Given the description of an element on the screen output the (x, y) to click on. 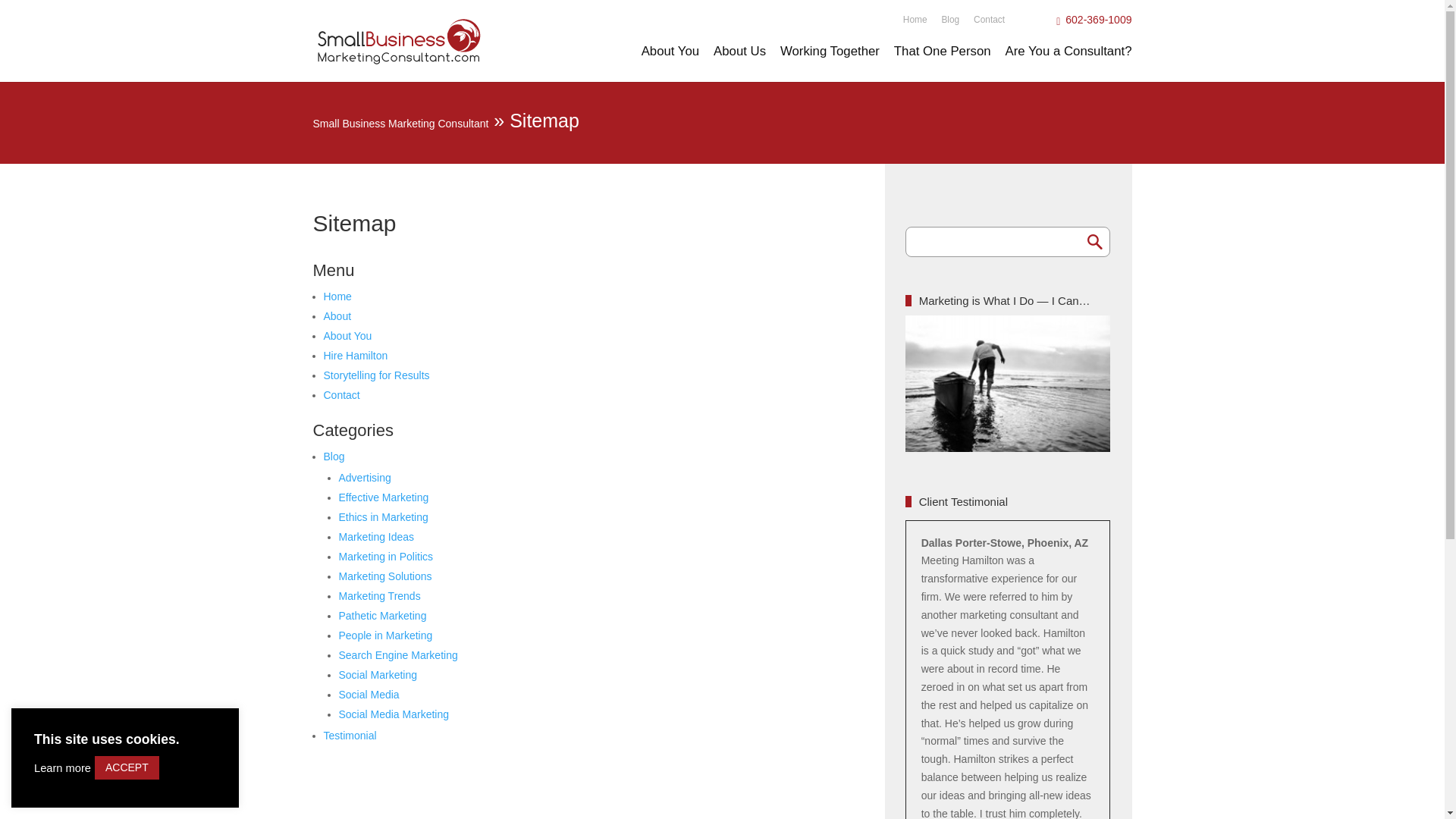
Marketing Solutions (383, 576)
Marketing Trends (378, 595)
About (336, 316)
Social Media Marketing (392, 714)
Ethics in Marketing (382, 517)
Social Media (367, 694)
Marketing in Politics (384, 556)
Go to Small Business Marketing Consultant. (400, 123)
Contact (989, 14)
Home (336, 296)
Working Together (829, 63)
Blog (333, 456)
Are You a Consultant? (1067, 63)
About You (671, 63)
That One Person (942, 63)
